Given the description of an element on the screen output the (x, y) to click on. 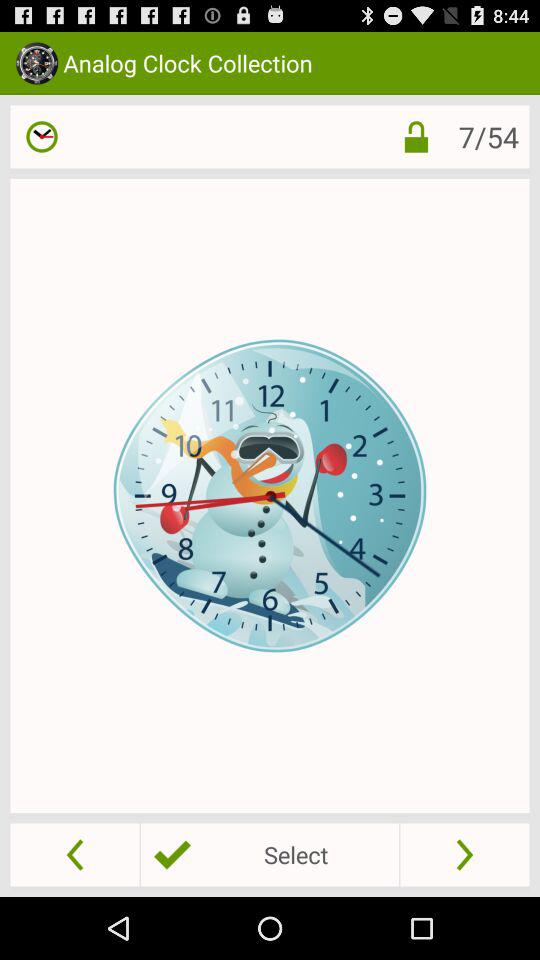
update or change the time (41, 136)
